Given the description of an element on the screen output the (x, y) to click on. 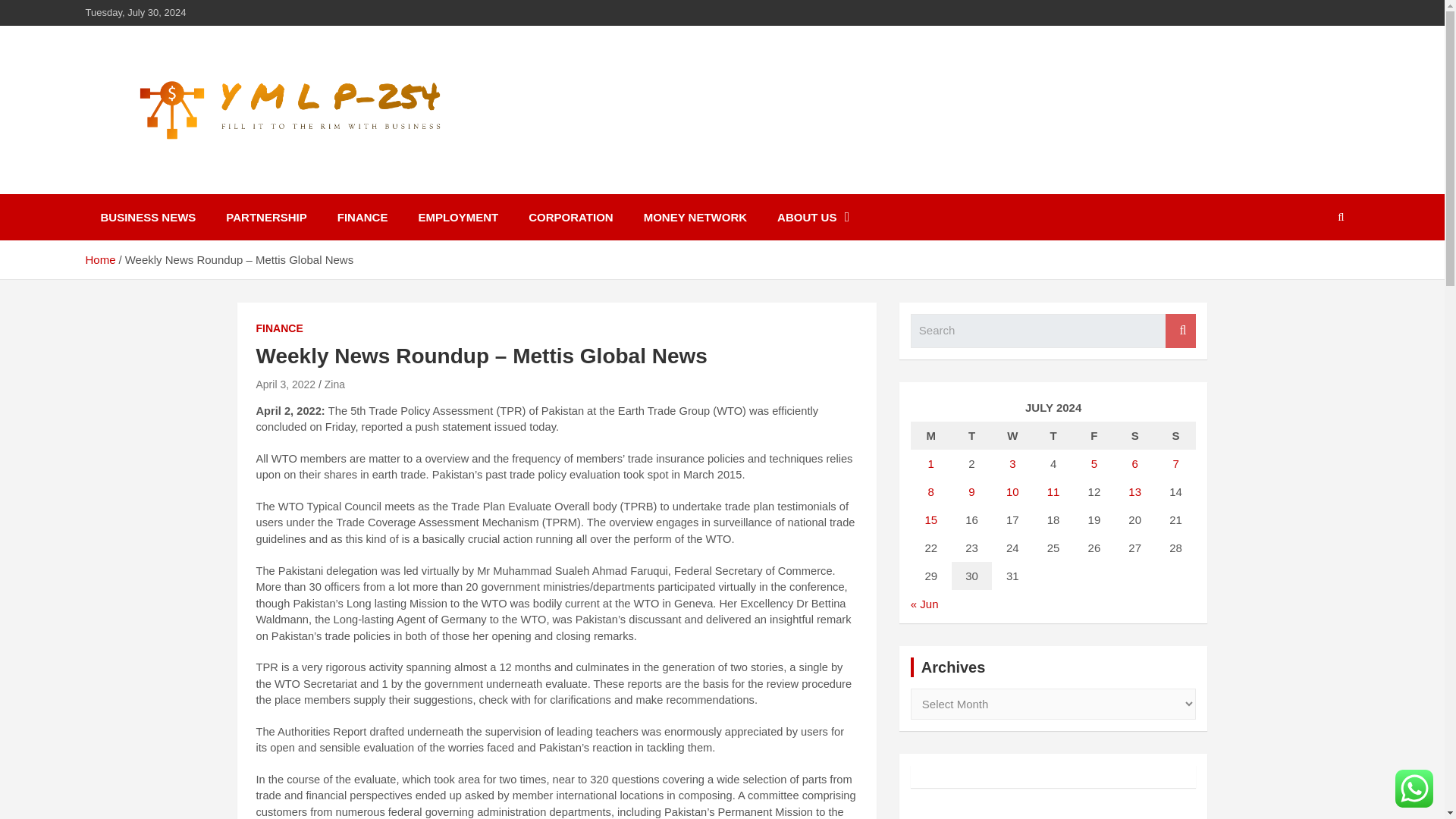
ABOUT US (812, 217)
Wednesday (1011, 435)
FINANCE (279, 328)
Zina (334, 384)
Saturday (1135, 435)
Monday (931, 435)
April 3, 2022 (285, 384)
Home (99, 259)
BUSINESS NEWS (147, 217)
Sunday (1176, 435)
Thursday (1053, 435)
EMPLOYMENT (458, 217)
PARTNERSHIP (266, 217)
CORPORATION (570, 217)
Tuesday (972, 435)
